Given the description of an element on the screen output the (x, y) to click on. 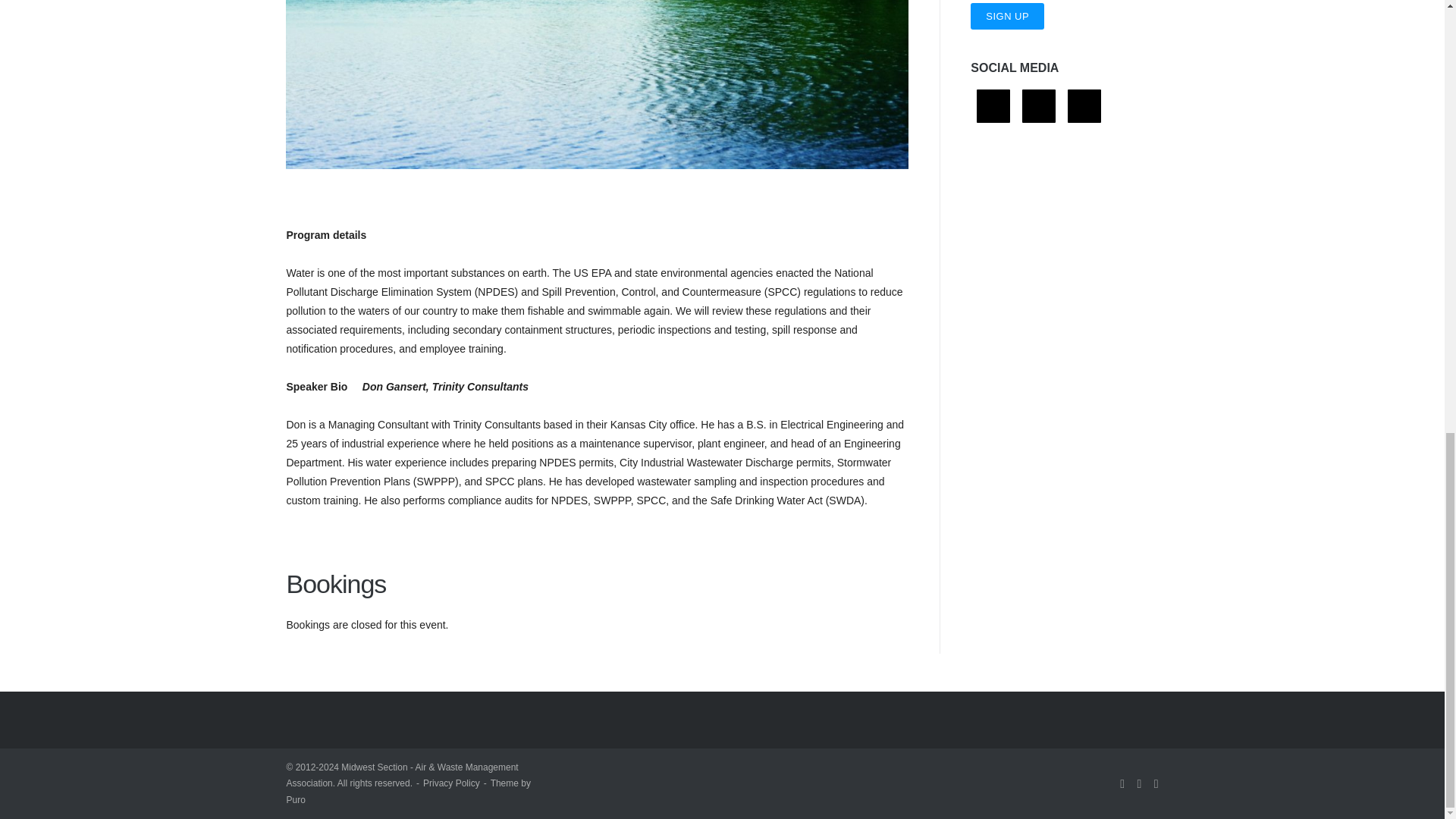
Privacy Policy (451, 783)
Sign up (1007, 16)
Sign up (1007, 16)
